Given the description of an element on the screen output the (x, y) to click on. 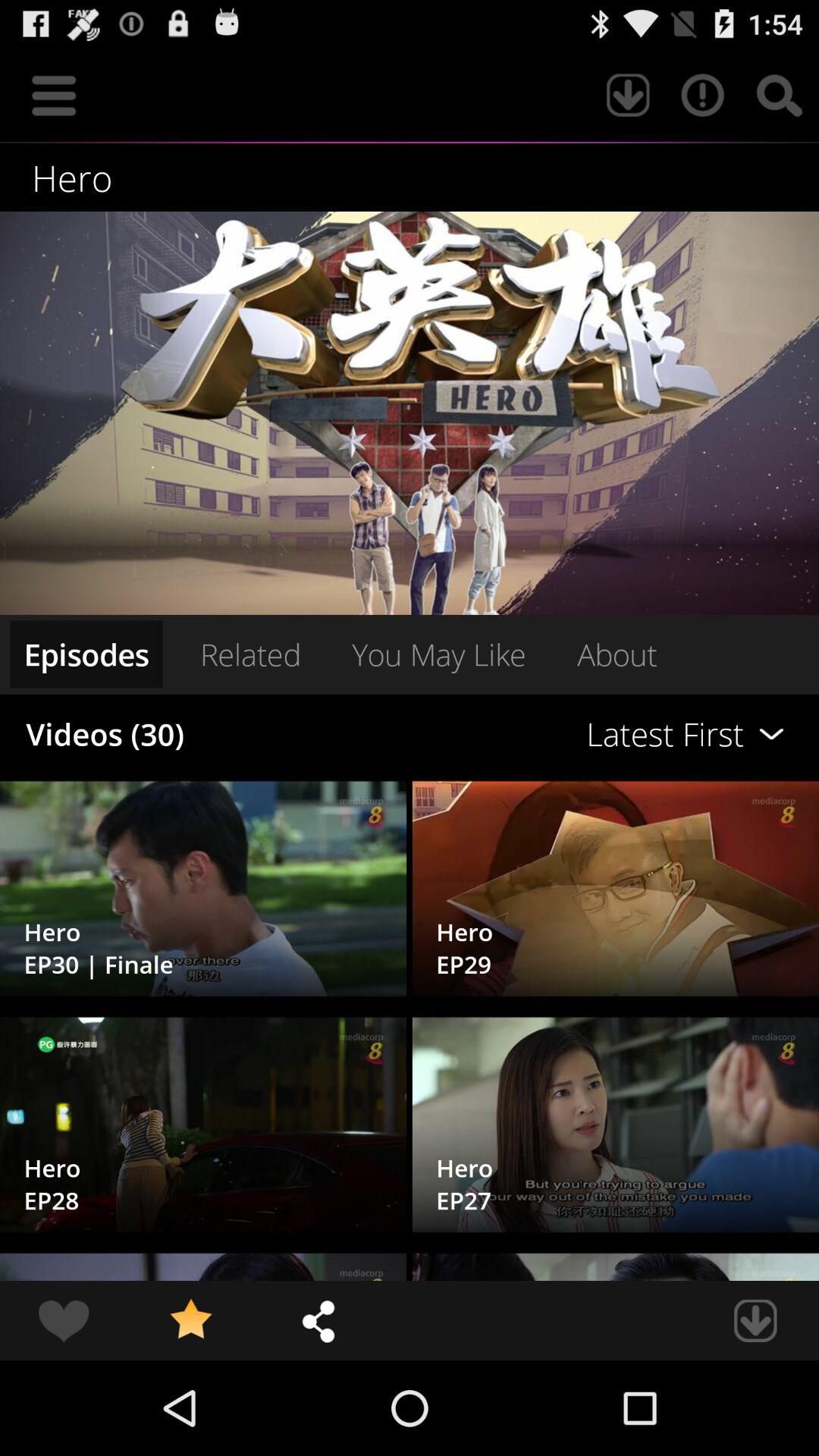
choose the icon below related item (560, 734)
